Given the description of an element on the screen output the (x, y) to click on. 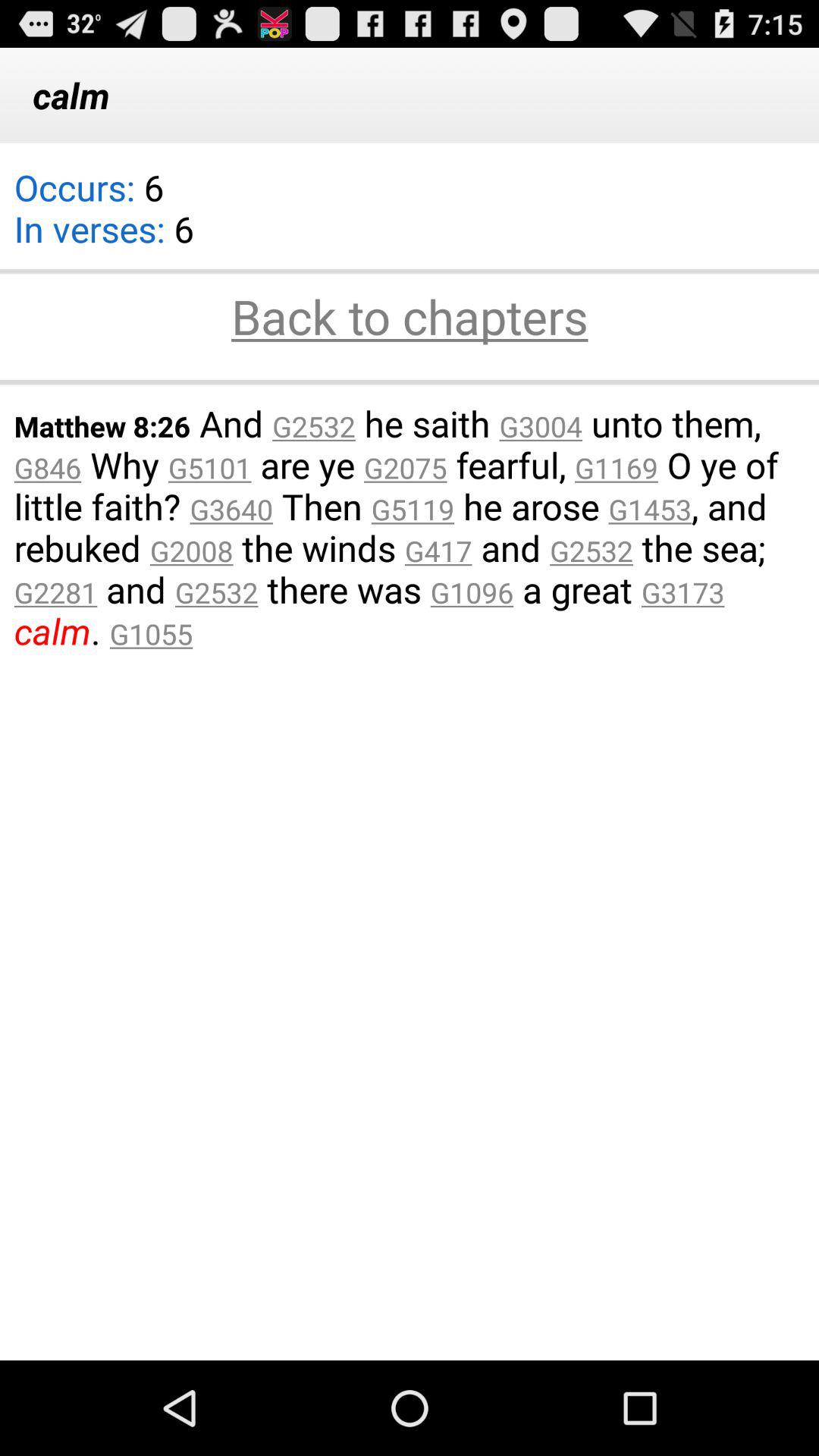
open the back to chapters (409, 319)
